Given the description of an element on the screen output the (x, y) to click on. 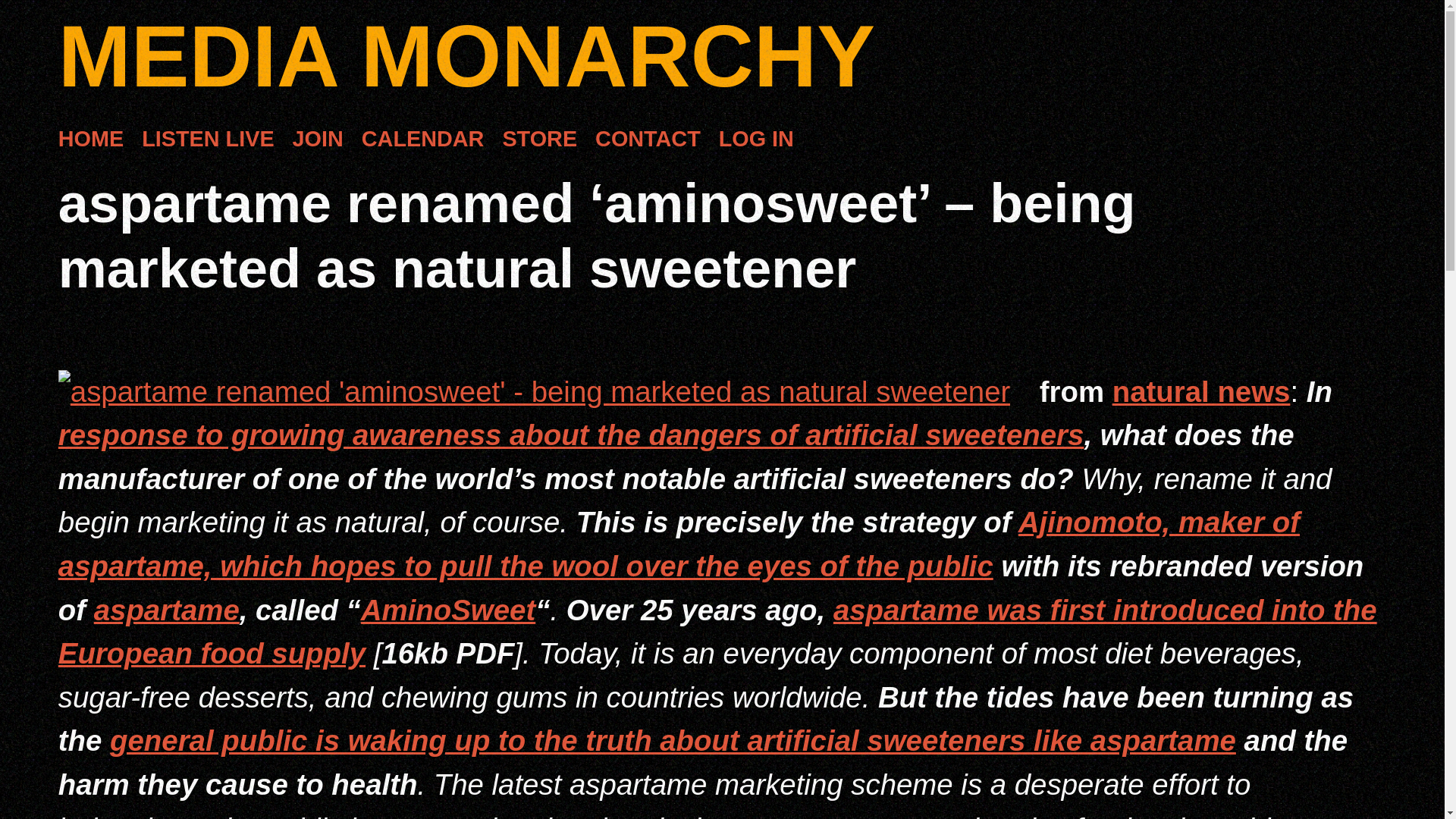
CALENDAR (422, 138)
HOME (90, 138)
CONTACT (647, 138)
AminoSweet (448, 609)
LOG IN (756, 138)
aspartame (167, 609)
LISTEN LIVE (207, 138)
STORE (539, 138)
MEDIA MONARCHY (466, 55)
natural news (1201, 391)
JOIN (317, 138)
